Given the description of an element on the screen output the (x, y) to click on. 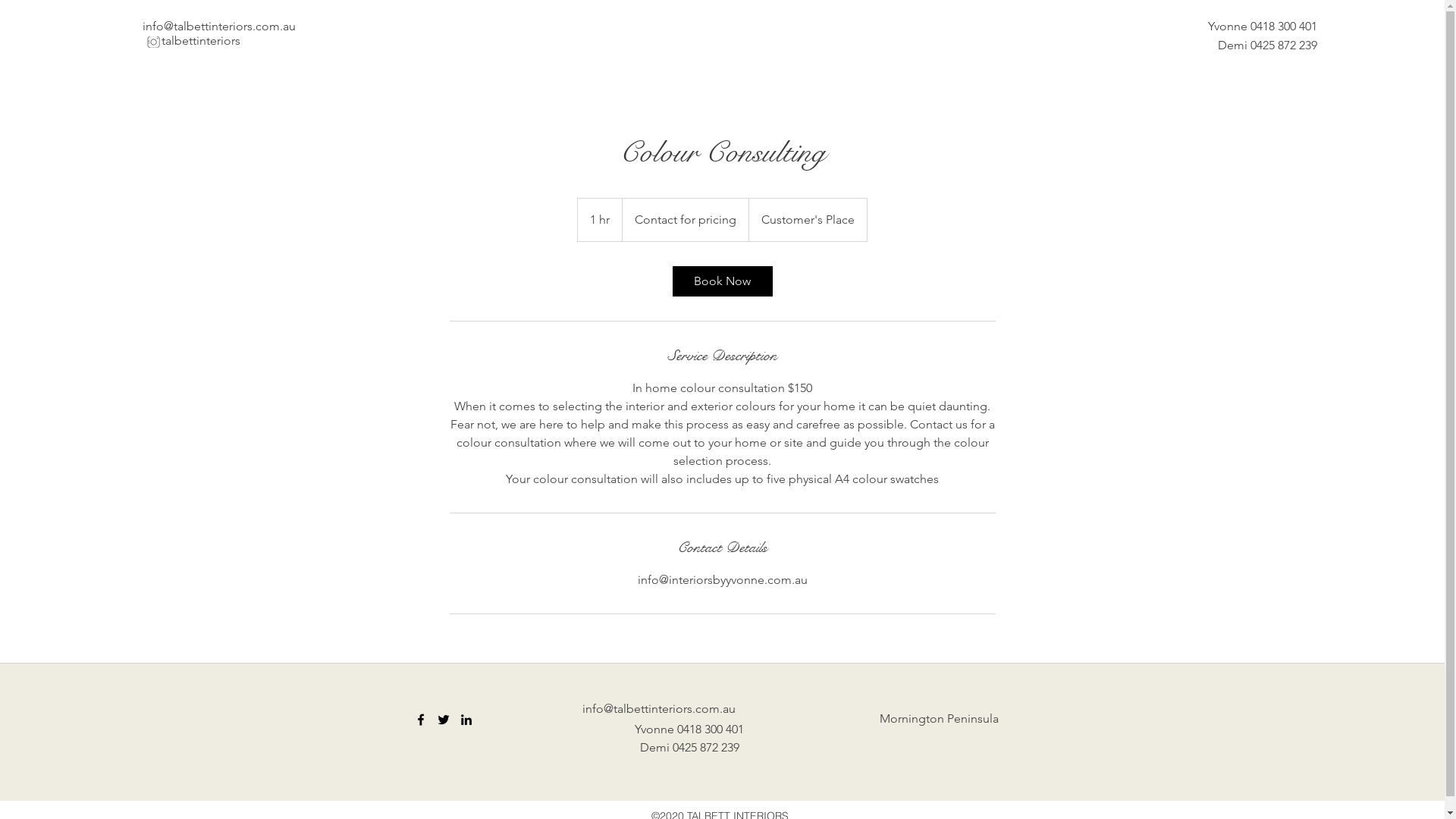
Book Now Element type: text (721, 281)
info@talbettinteriors.com.au Element type: text (218, 25)
